Given the description of an element on the screen output the (x, y) to click on. 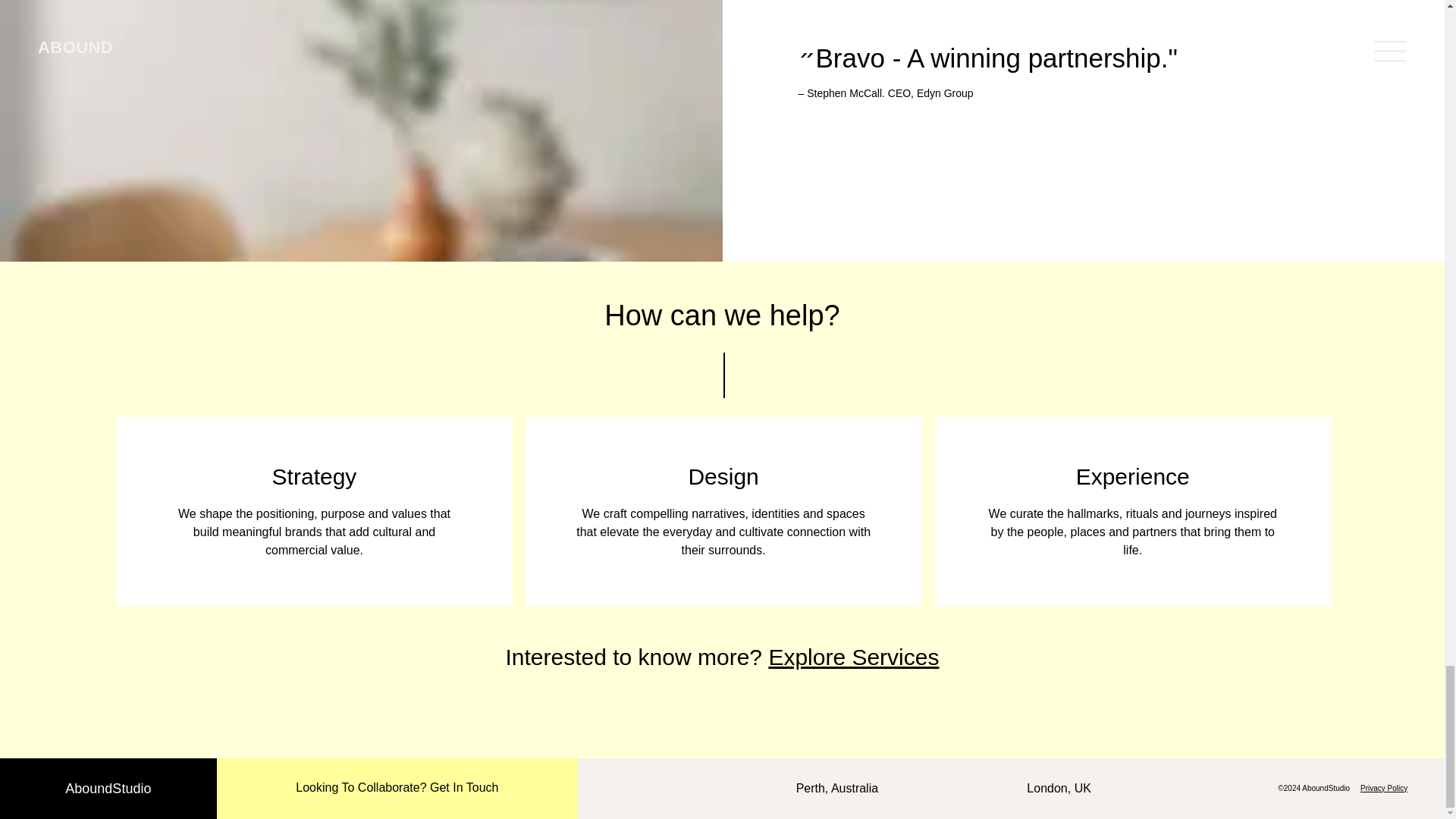
Privacy Policy (1383, 787)
AboundStudio (108, 788)
Explore Services (853, 656)
